Given the description of an element on the screen output the (x, y) to click on. 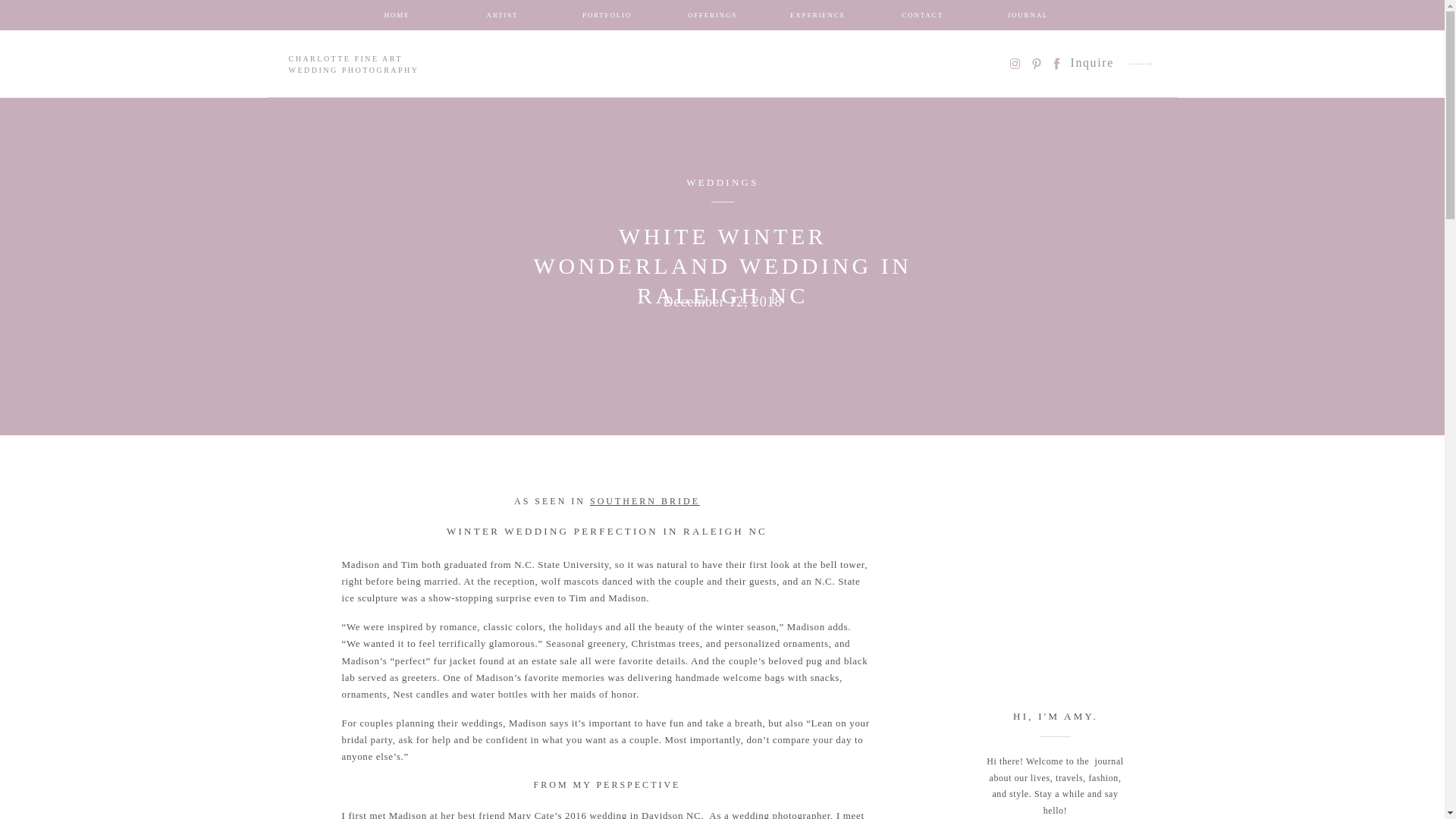
WEDDINGS (721, 182)
ARTIST (502, 19)
HOME (397, 19)
arrow (1140, 63)
JOURNAL (1028, 19)
Inquire  (1092, 64)
arrow (1140, 63)
EXPERIENCE (817, 19)
SOUTHERN BRIDE (644, 501)
OFFERINGS (712, 19)
PORTFOLIO (606, 19)
CONTACT (922, 19)
